Given the description of an element on the screen output the (x, y) to click on. 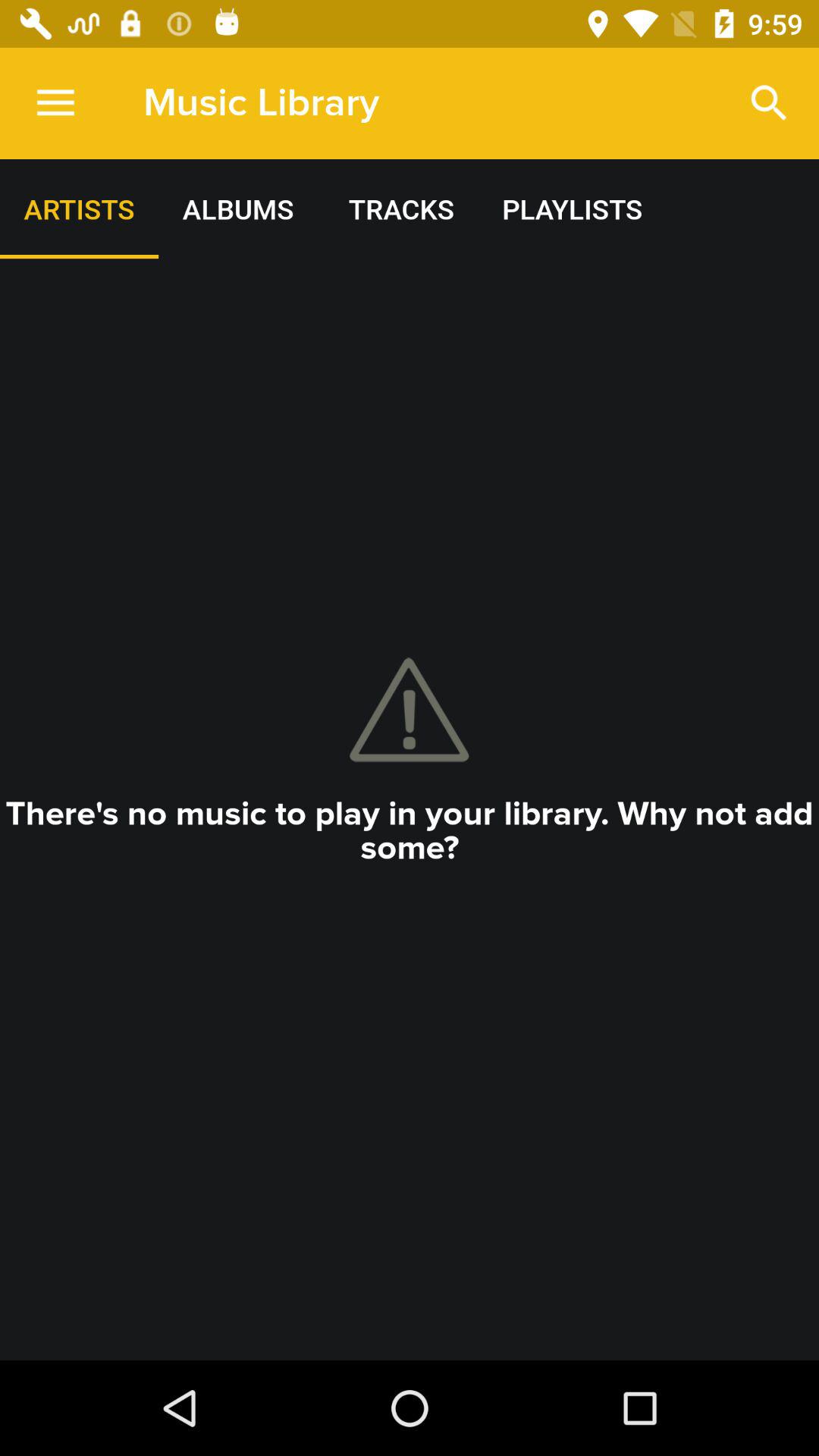
choose icon to the right of the music library item (769, 102)
